Given the description of an element on the screen output the (x, y) to click on. 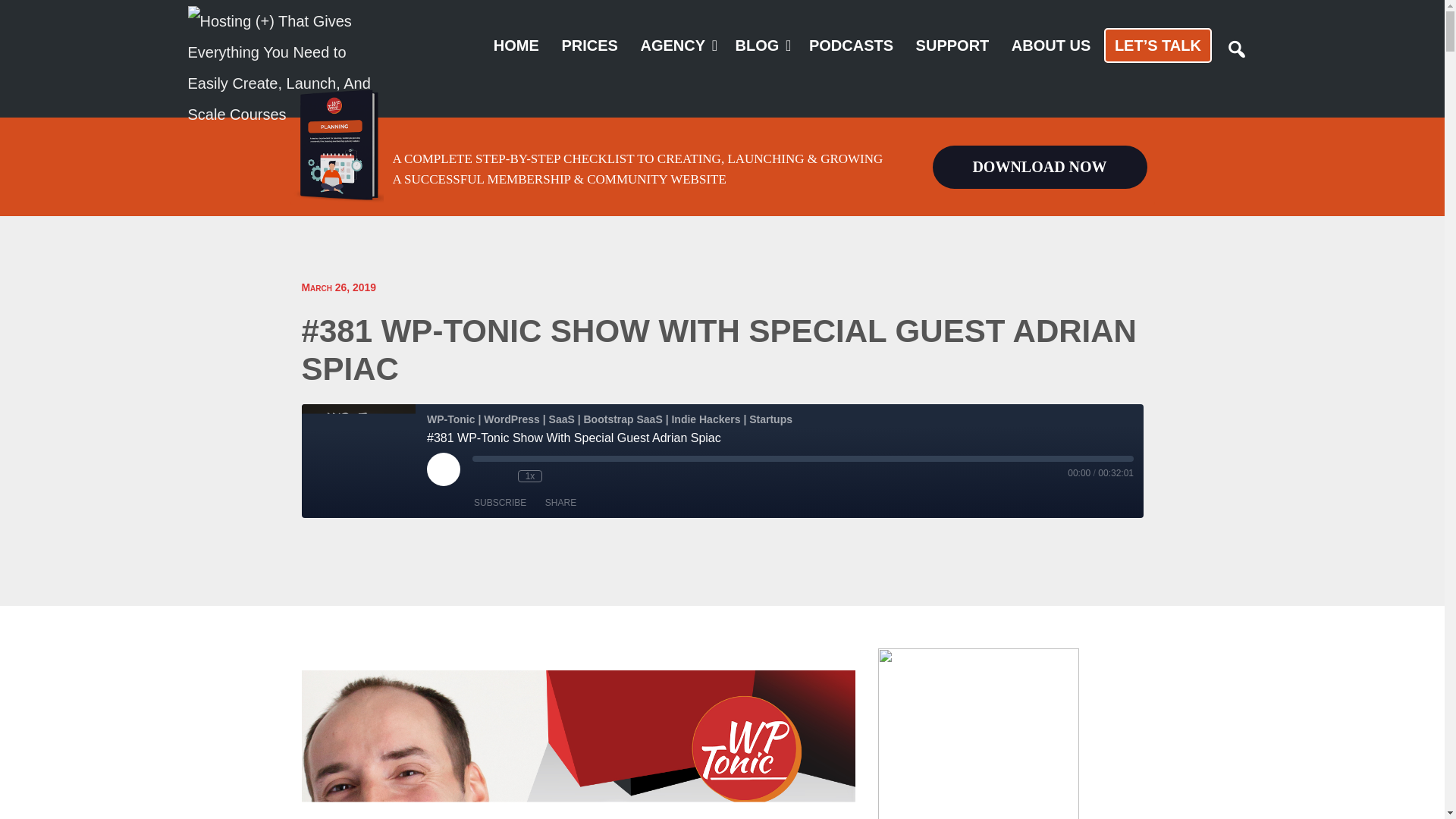
AGENCY (672, 45)
PODCASTS (850, 45)
SUPPORT (952, 45)
DOWNLOAD NOW (1040, 167)
PRICES (588, 45)
PRICES (588, 45)
ABOUT US (1051, 45)
